Given the description of an element on the screen output the (x, y) to click on. 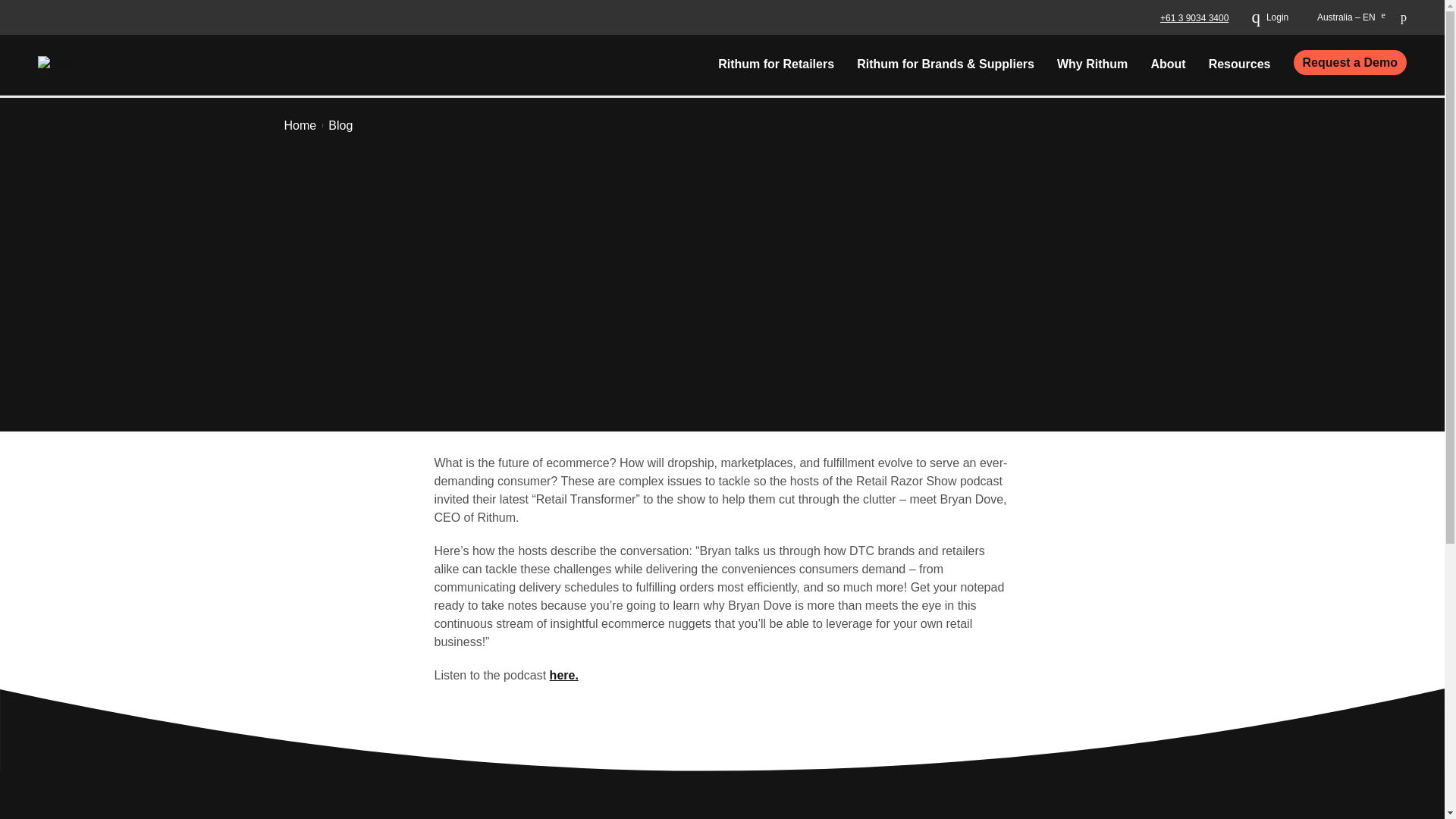
Go to Rithum. (299, 126)
 Australia - EN (1344, 17)
